Given the description of an element on the screen output the (x, y) to click on. 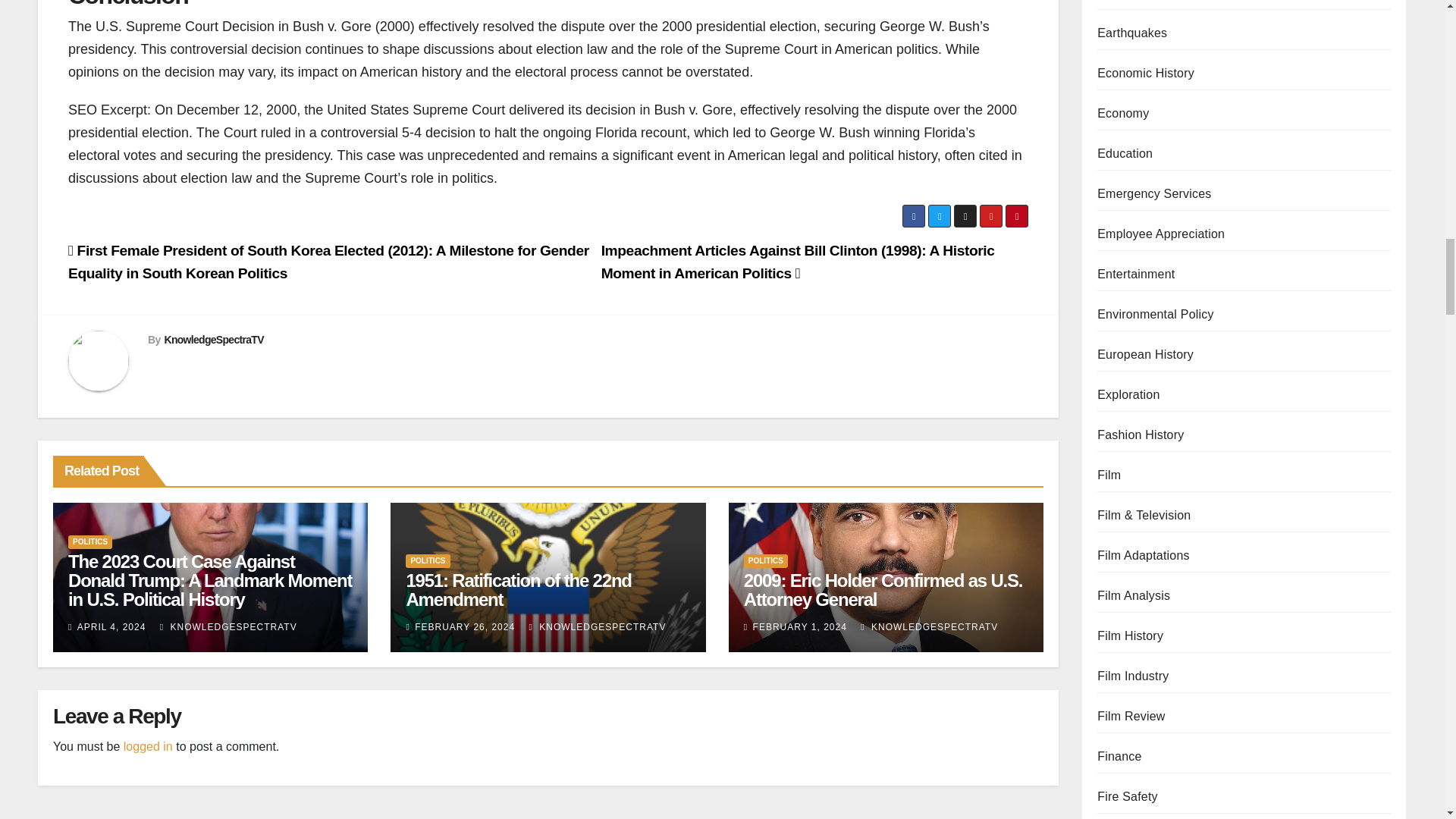
Permalink to: 1951: Ratification of the 22nd Amendment (518, 589)
